Given the description of an element on the screen output the (x, y) to click on. 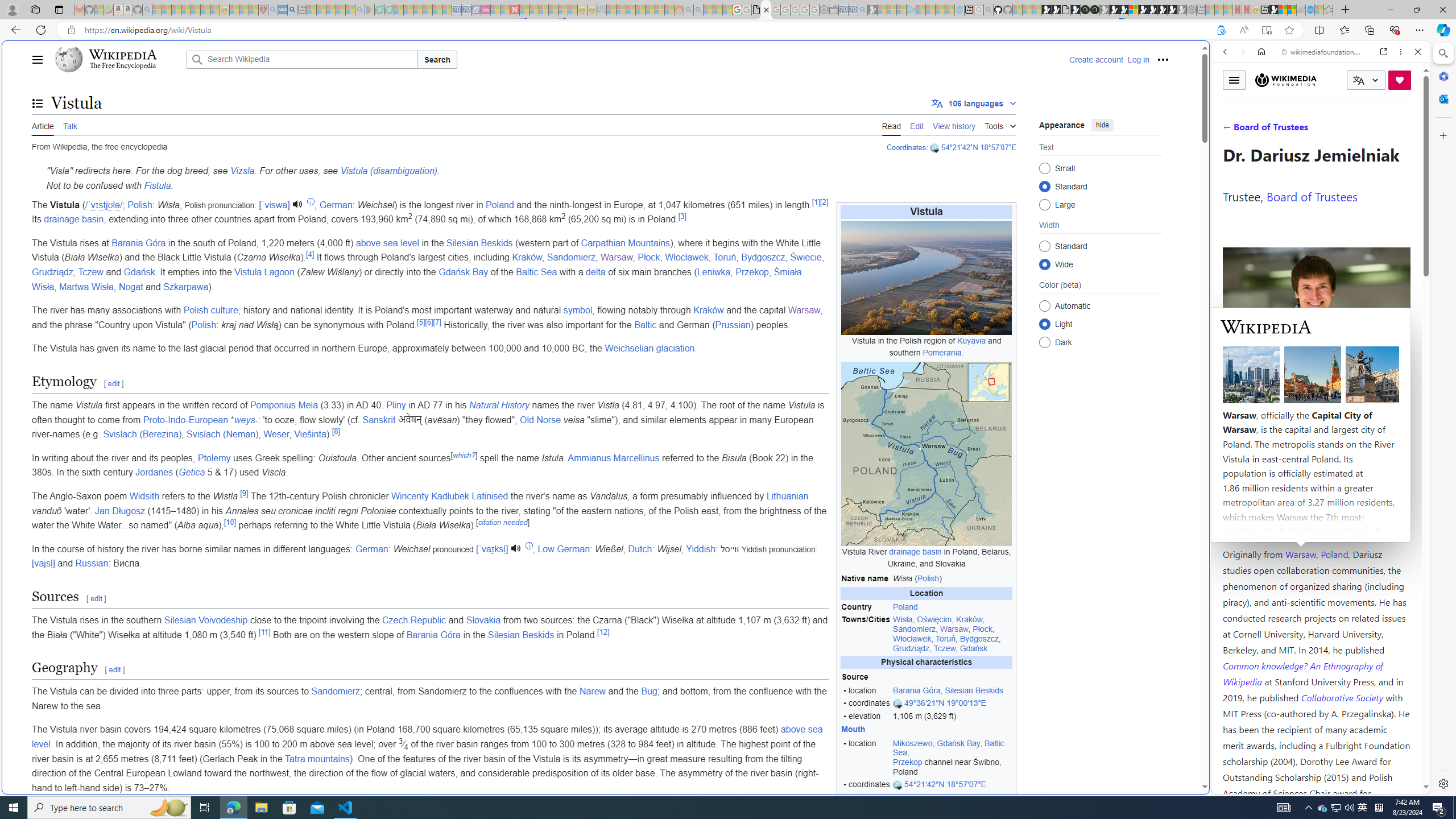
Ammianus Marcellinus (613, 457)
Collaborative Society  (1343, 697)
[11] (264, 631)
Toggle the table of contents (37, 103)
Latest Politics News & Archive | Newsweek.com - Sleeping (514, 9)
Poland (1334, 554)
NCL Adult Asthma Inhaler Choice Guideline - Sleeping (282, 9)
